Given the description of an element on the screen output the (x, y) to click on. 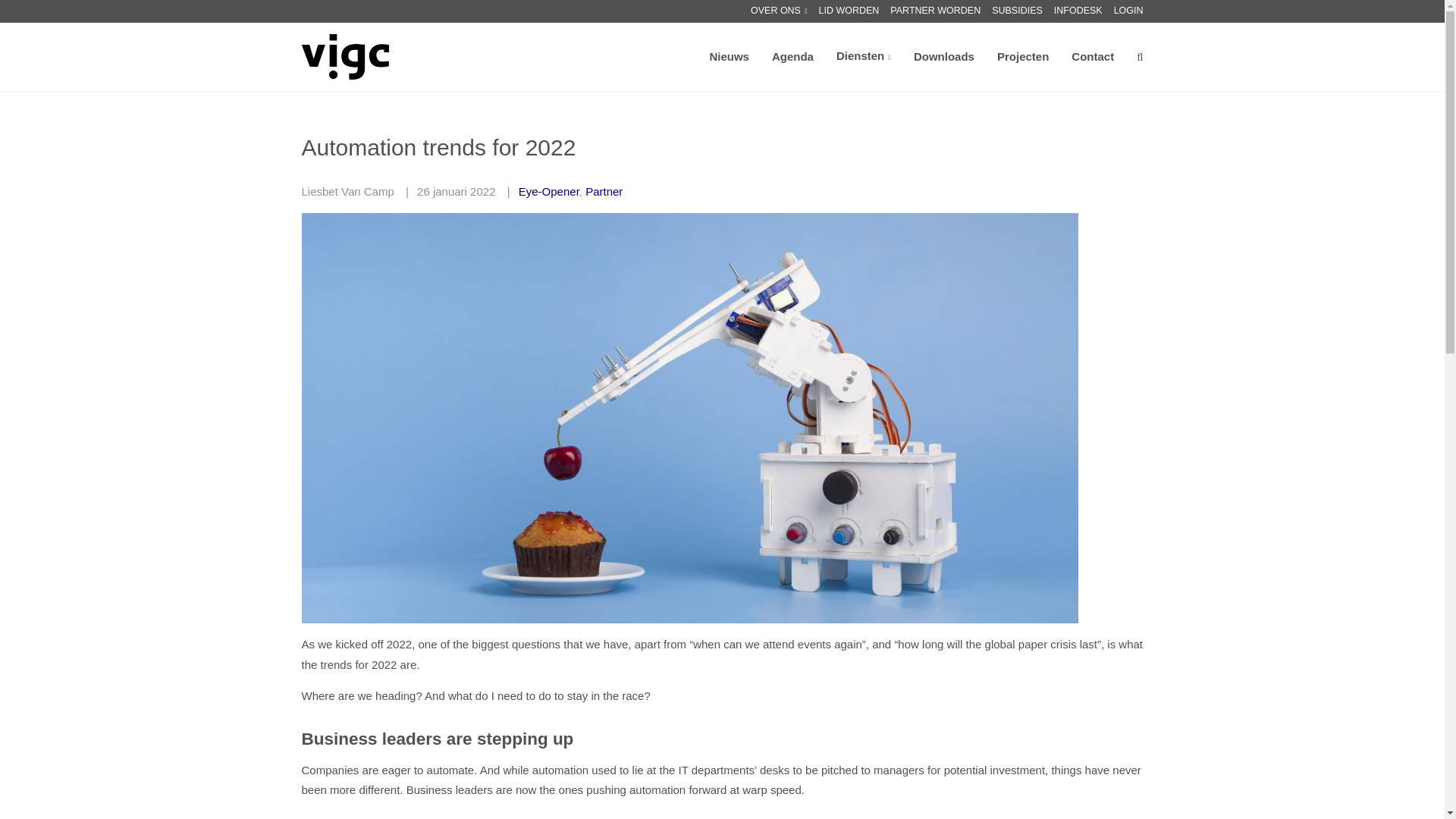
VIGC (345, 56)
Downloads (944, 56)
Contact (1092, 56)
Projecten (1022, 56)
Eye-Opener (548, 191)
Agenda (792, 56)
LOGIN (1127, 11)
Partner (604, 191)
PARTNER WORDEN (934, 11)
Nieuws (729, 56)
logo (344, 56)
LID WORDEN (848, 11)
OVER ONS (779, 11)
logo (345, 56)
SUBSIDIES (1016, 11)
